Given the description of an element on the screen output the (x, y) to click on. 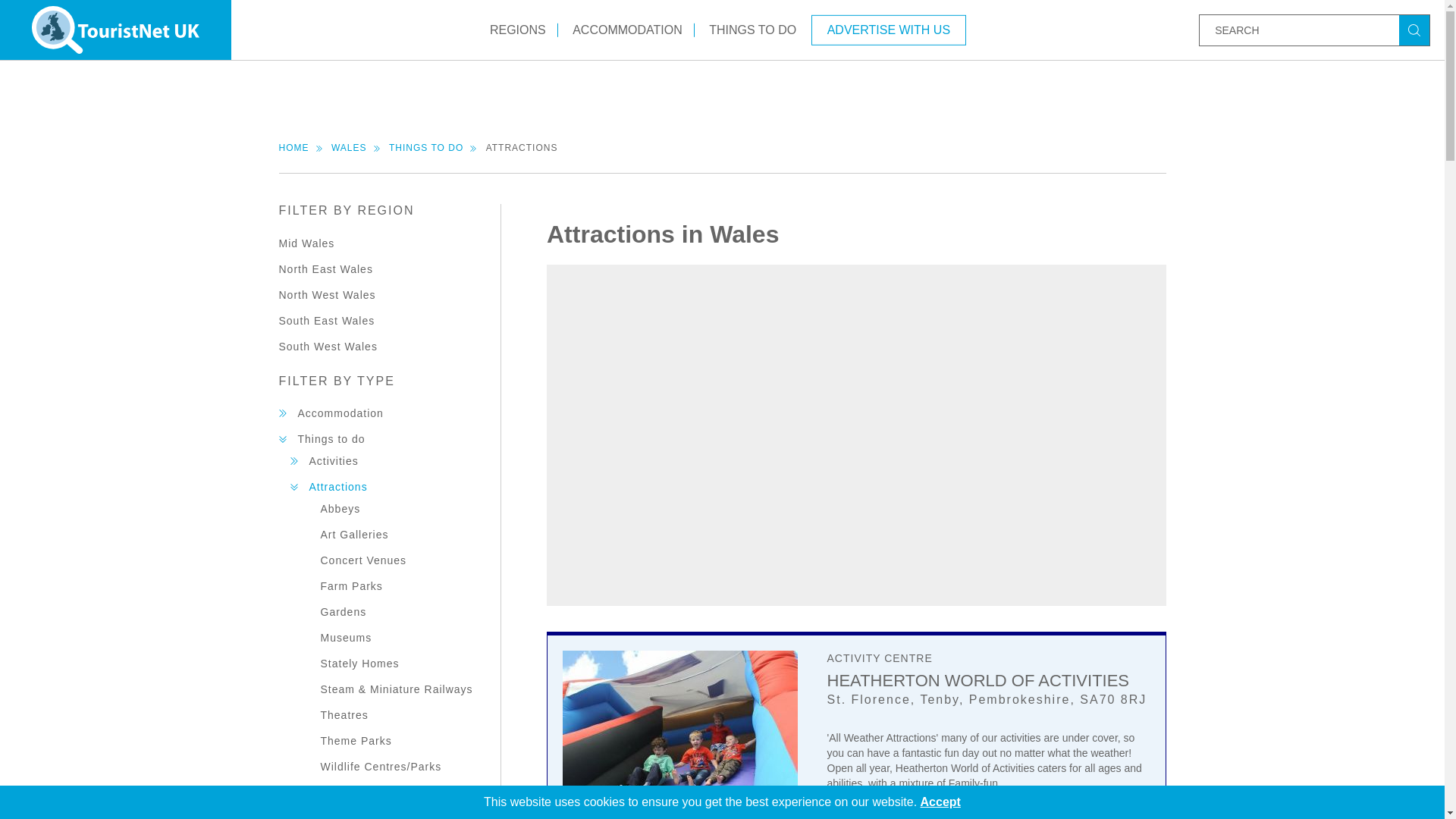
REGIONS (518, 29)
Accept (940, 801)
